Given the description of an element on the screen output the (x, y) to click on. 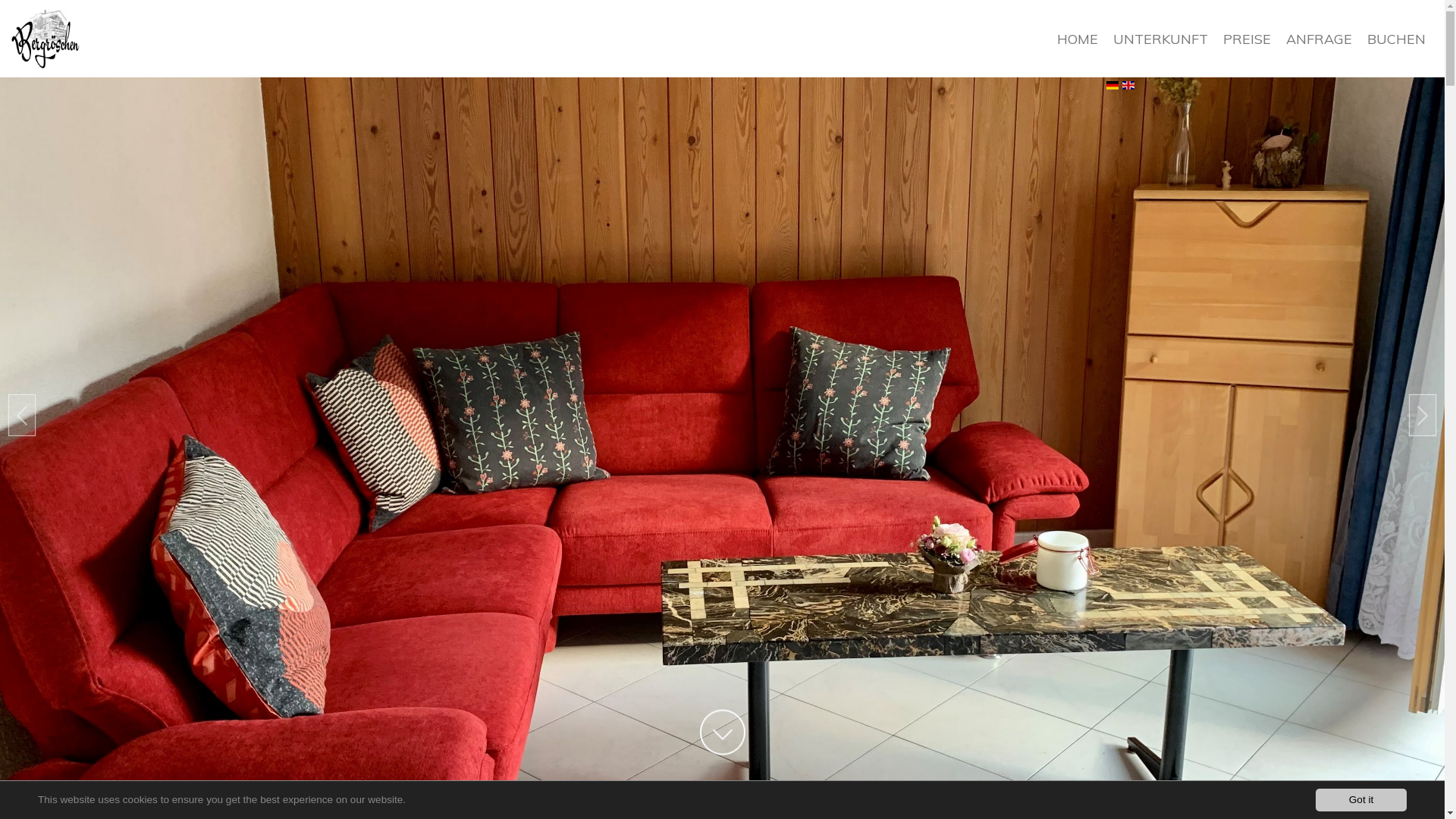
PREISE Element type: text (1246, 39)
Got it Element type: text (1360, 799)
HOME Element type: text (1077, 39)
BUCHEN Element type: text (1396, 39)
ANFRAGE Element type: text (1318, 39)
English Element type: hover (1128, 85)
Deutsch Element type: hover (1111, 85)
UNTERKUNFT Element type: text (1160, 39)
